Given the description of an element on the screen output the (x, y) to click on. 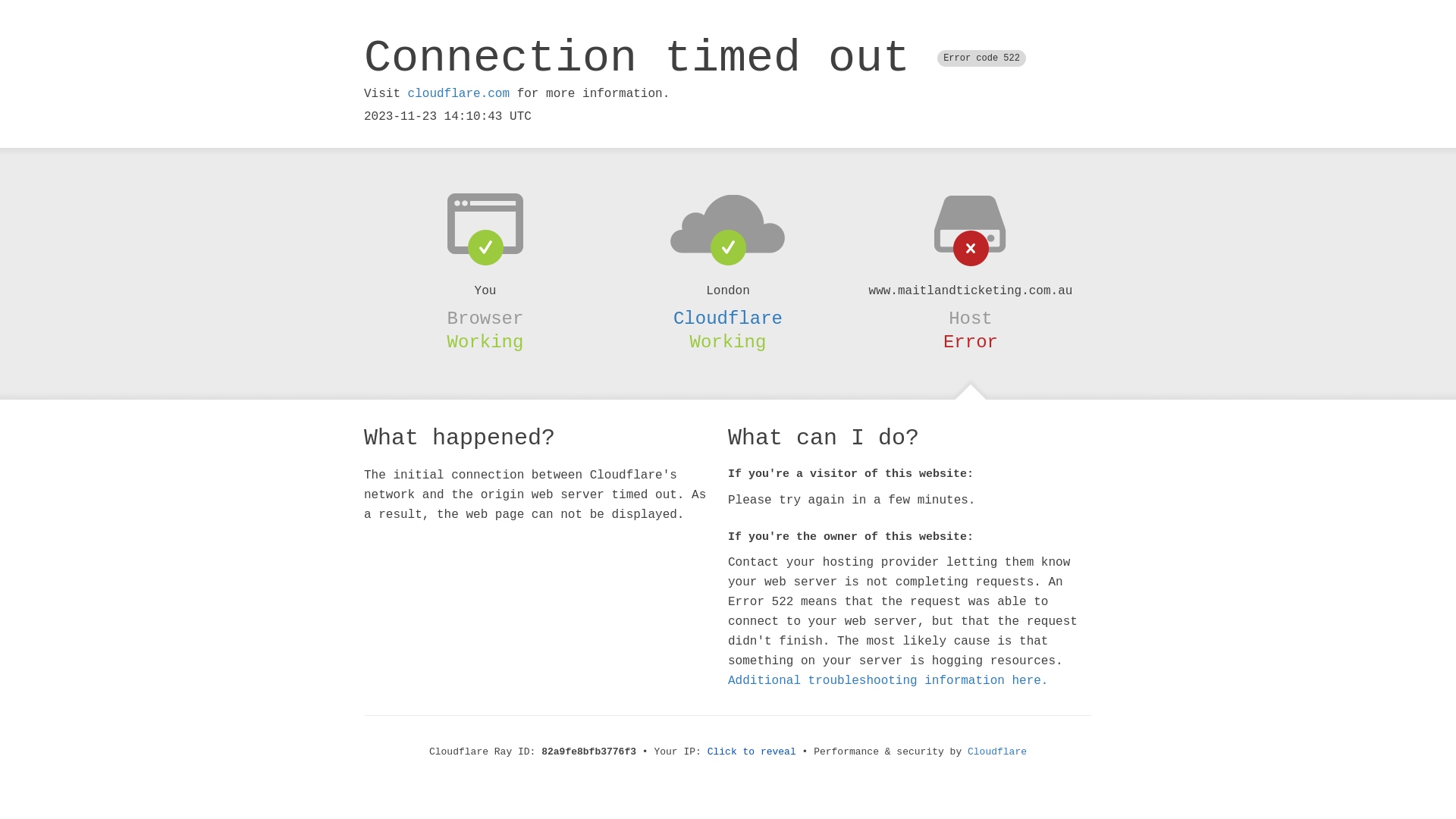
cloudflare.com Element type: text (458, 93)
Cloudflare Element type: text (727, 318)
Click to reveal Element type: text (751, 751)
Cloudflare Element type: text (996, 751)
Additional troubleshooting information here. Element type: text (888, 680)
